Given the description of an element on the screen output the (x, y) to click on. 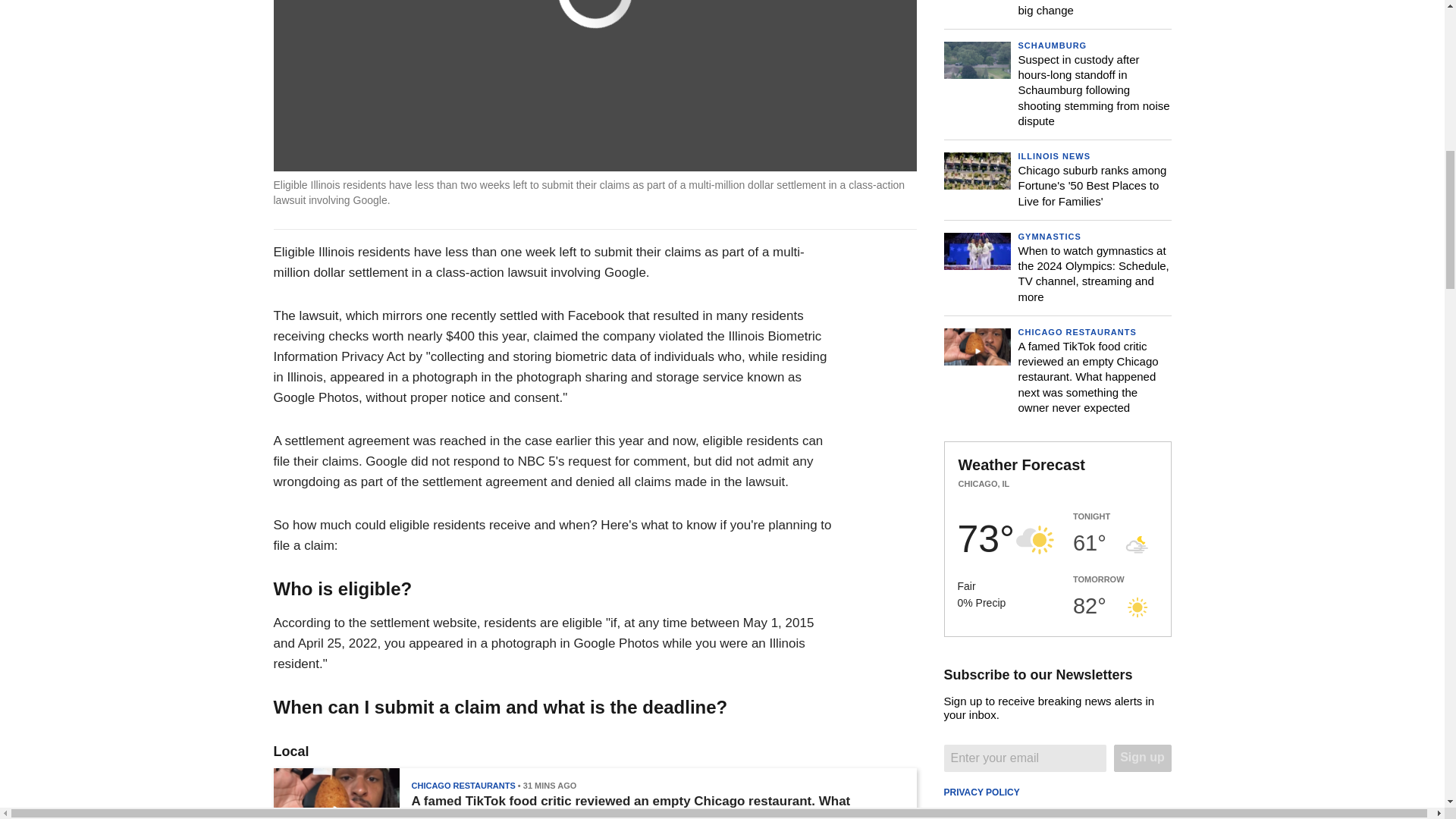
CHICAGO RESTAURANTS (462, 785)
